Given the description of an element on the screen output the (x, y) to click on. 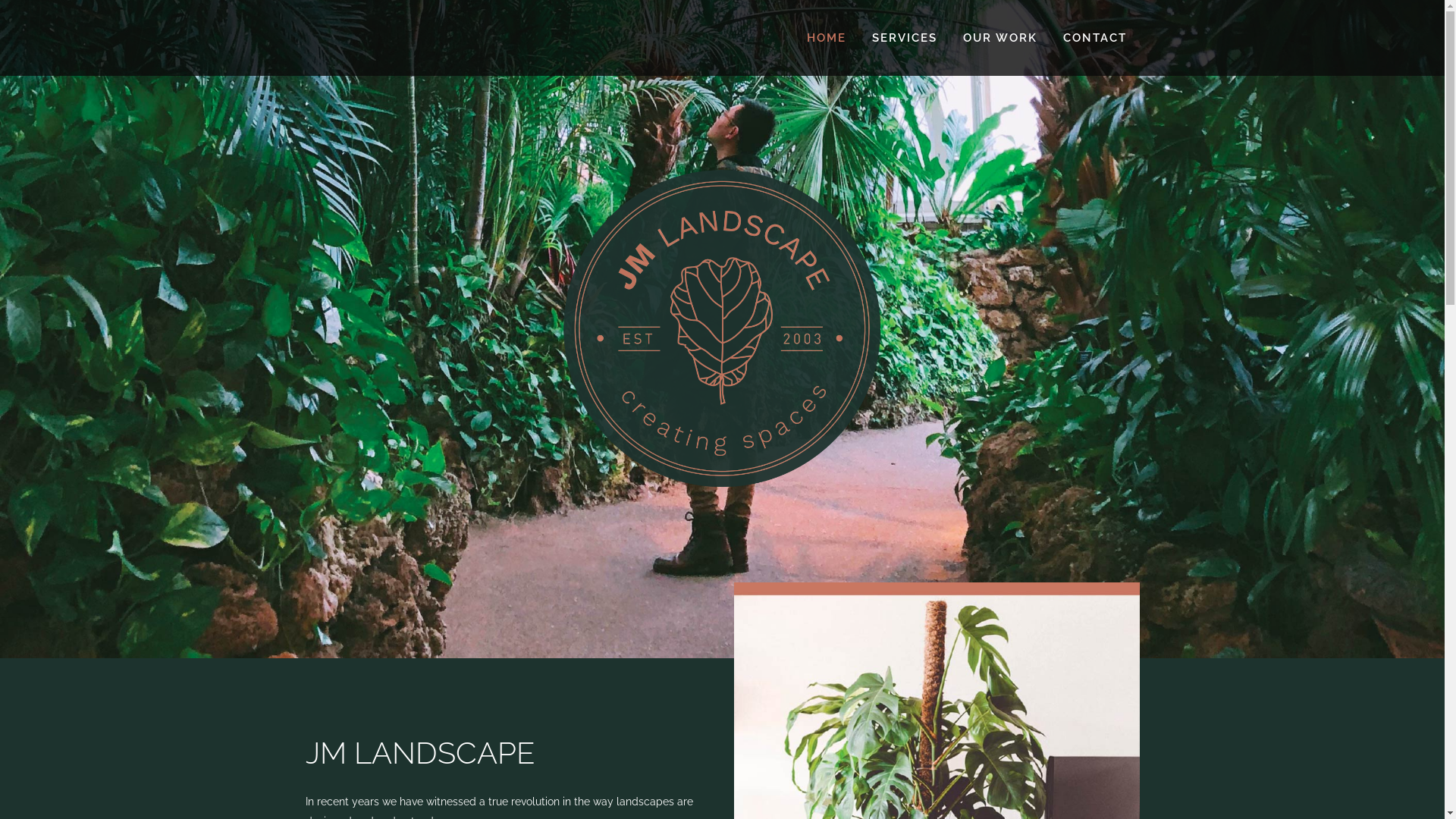
HOME Element type: text (825, 37)
SERVICES Element type: text (903, 37)
CONTACT Element type: text (1094, 37)
OUR WORK Element type: text (999, 37)
